Given the description of an element on the screen output the (x, y) to click on. 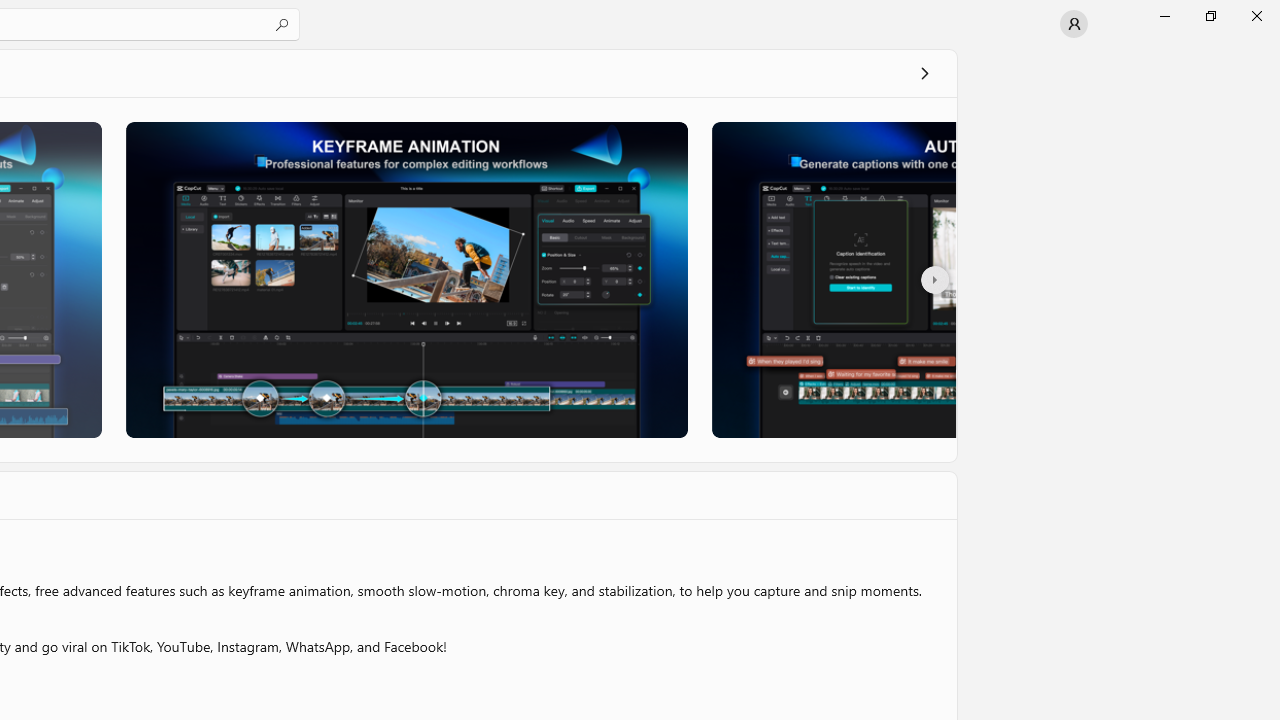
Screenshot 3 (833, 279)
Screenshot 2 (406, 279)
See all (924, 72)
